Given the description of an element on the screen output the (x, y) to click on. 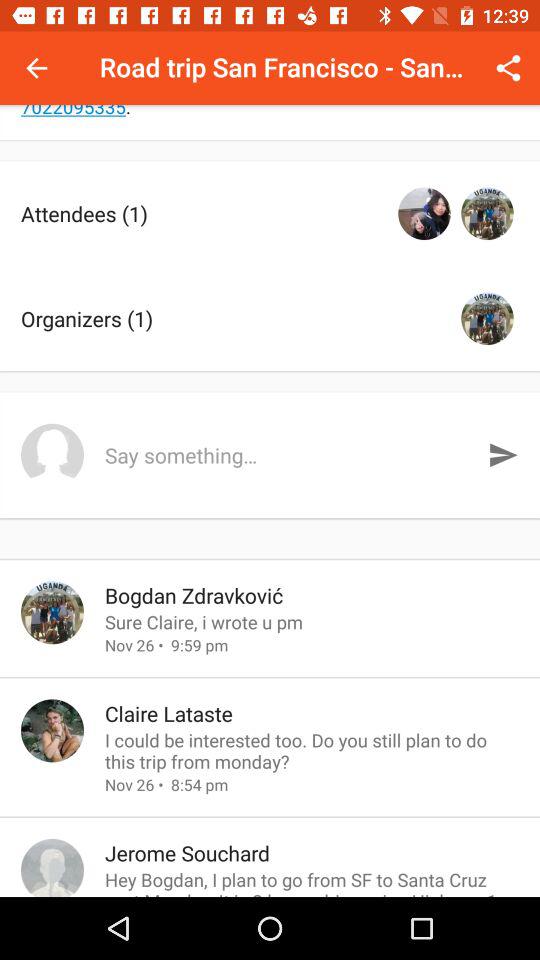
select i could be icon (312, 750)
